Given the description of an element on the screen output the (x, y) to click on. 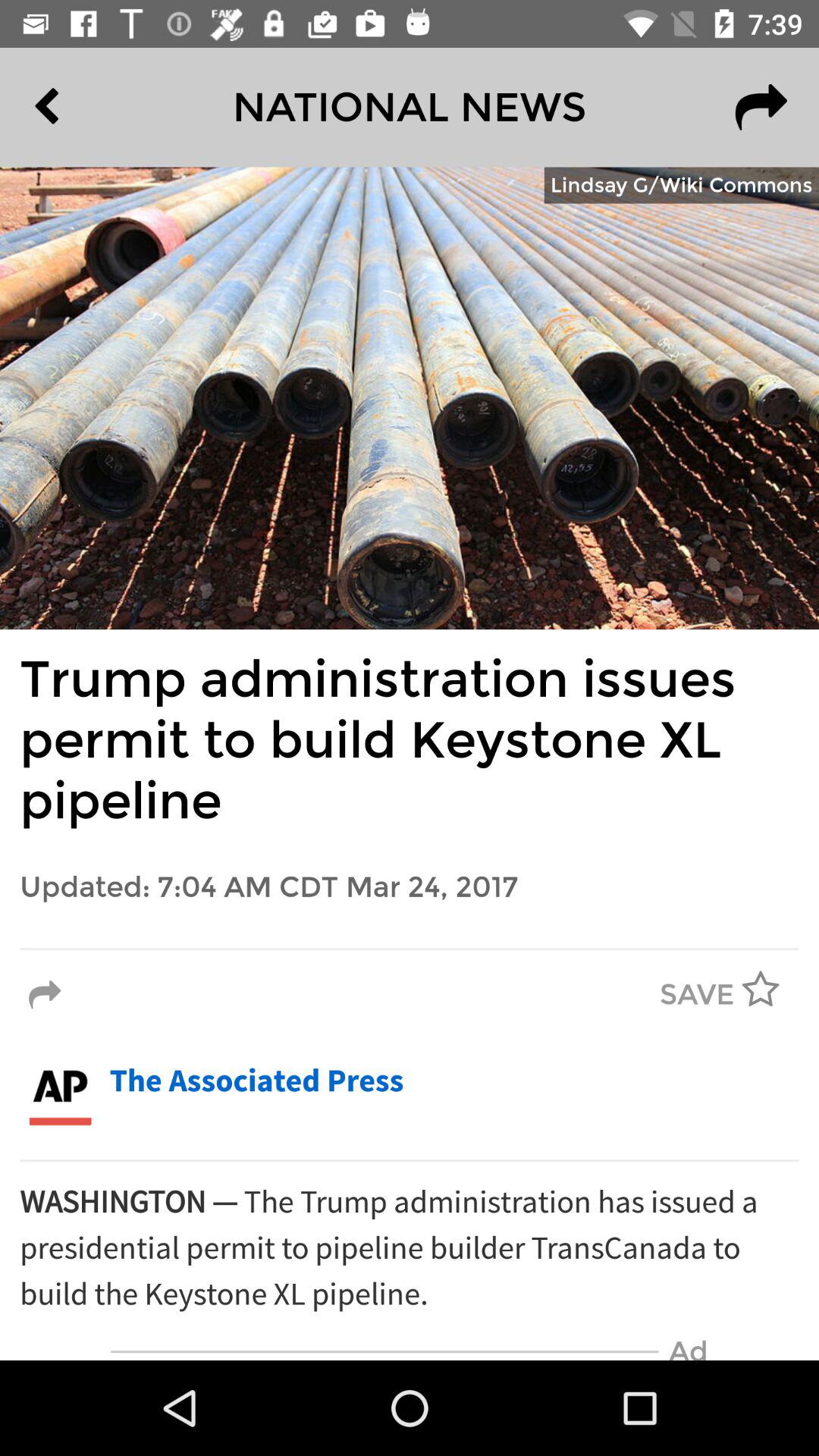
open icon to the left of national news (81, 107)
